Given the description of an element on the screen output the (x, y) to click on. 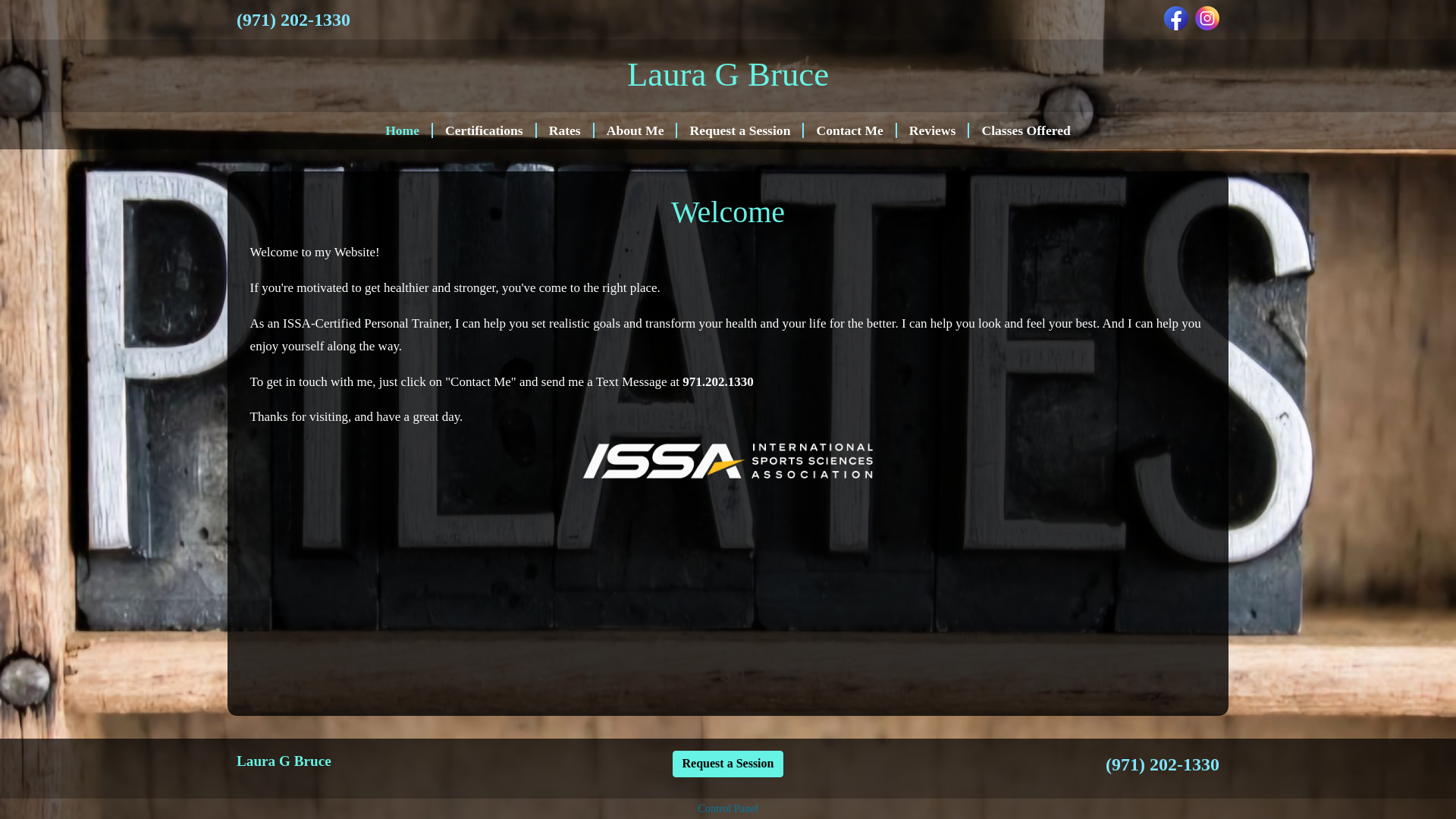
About Me (636, 130)
Home (402, 130)
Rates (565, 130)
Contact Me (849, 130)
Reviews (932, 130)
Request a Session (728, 764)
Classes Offered (1025, 130)
Certifications (484, 130)
Control Panel (727, 808)
Request a Session (740, 130)
